Given the description of an element on the screen output the (x, y) to click on. 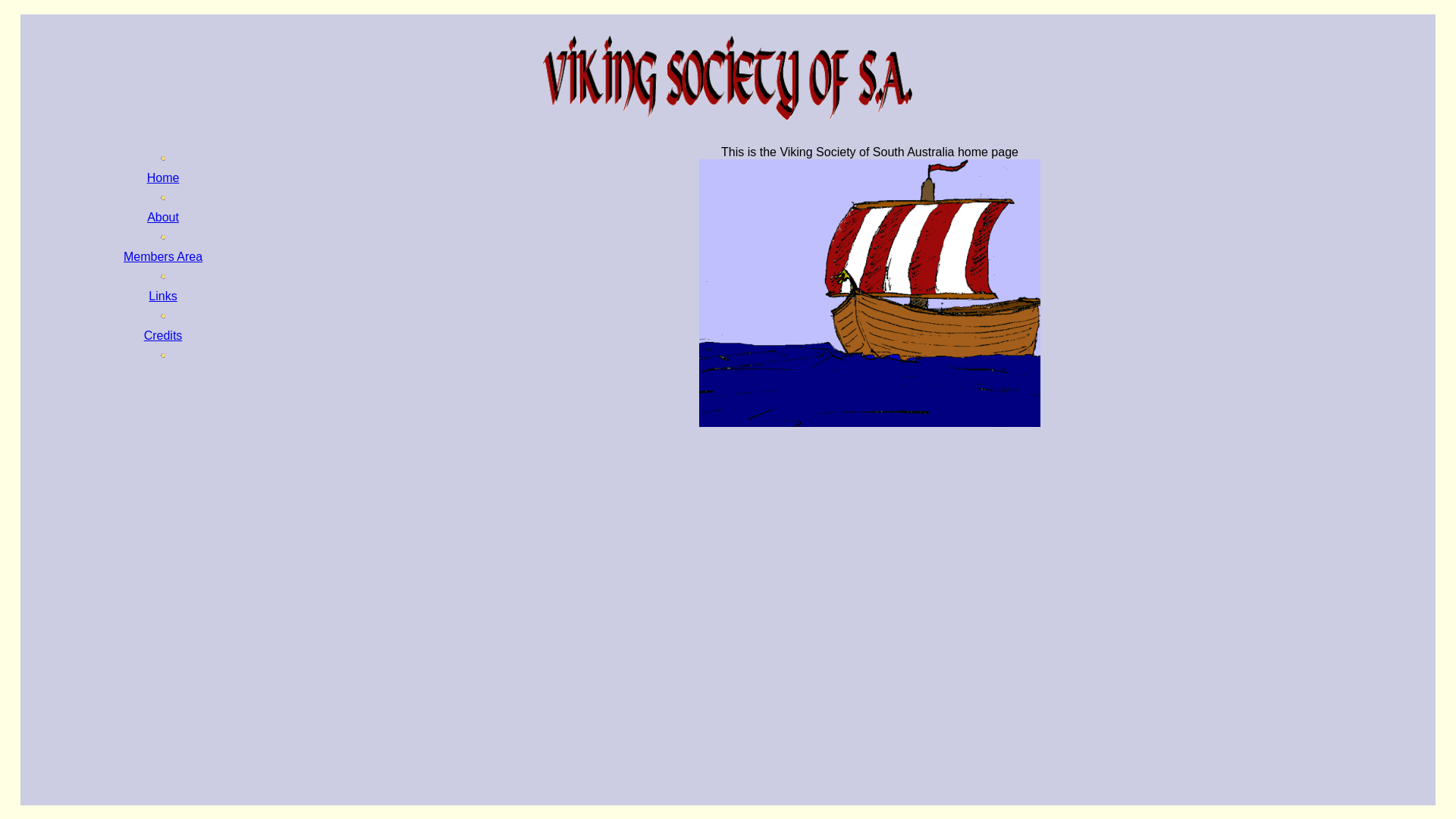
Home Element type: text (163, 177)
Credits Element type: text (163, 335)
About Element type: text (162, 216)
Members Area Element type: text (162, 256)
Links Element type: text (162, 295)
